Given the description of an element on the screen output the (x, y) to click on. 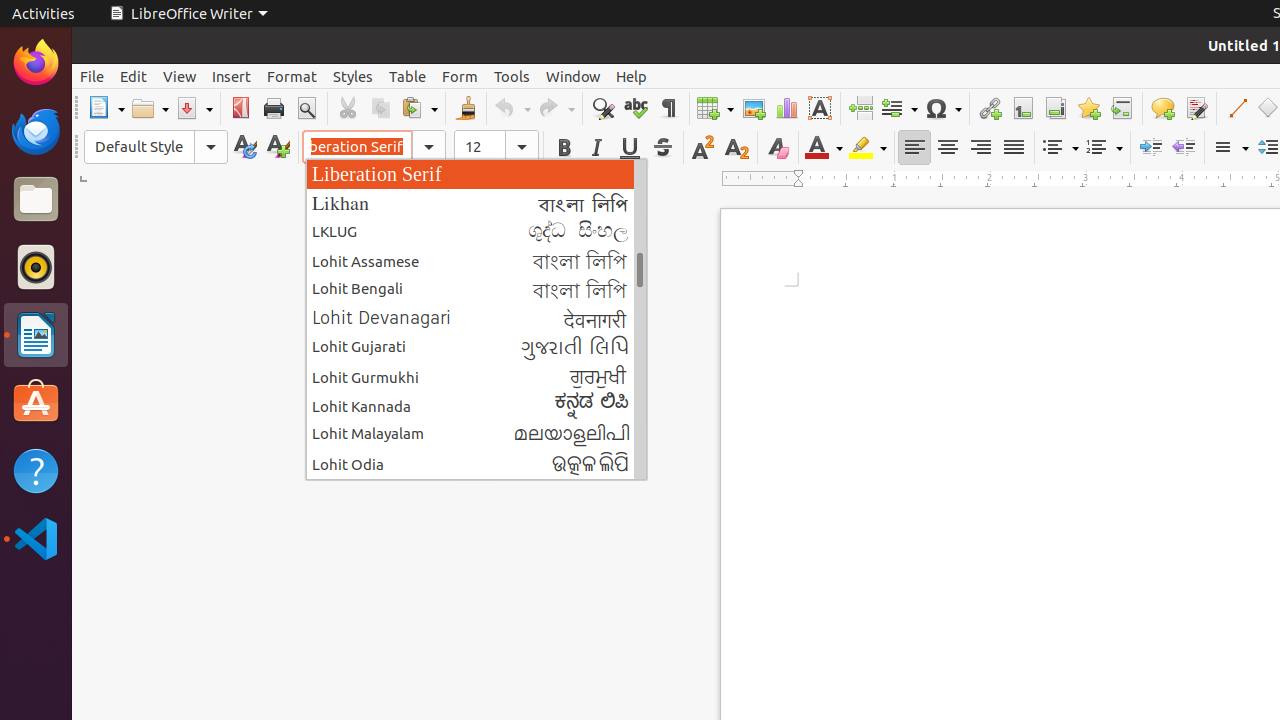
Image Element type: push-button (753, 108)
Table Element type: menu (407, 76)
Subscript Element type: toggle-button (736, 147)
New Element type: push-button (277, 147)
Center Element type: toggle-button (947, 147)
